Given the description of an element on the screen output the (x, y) to click on. 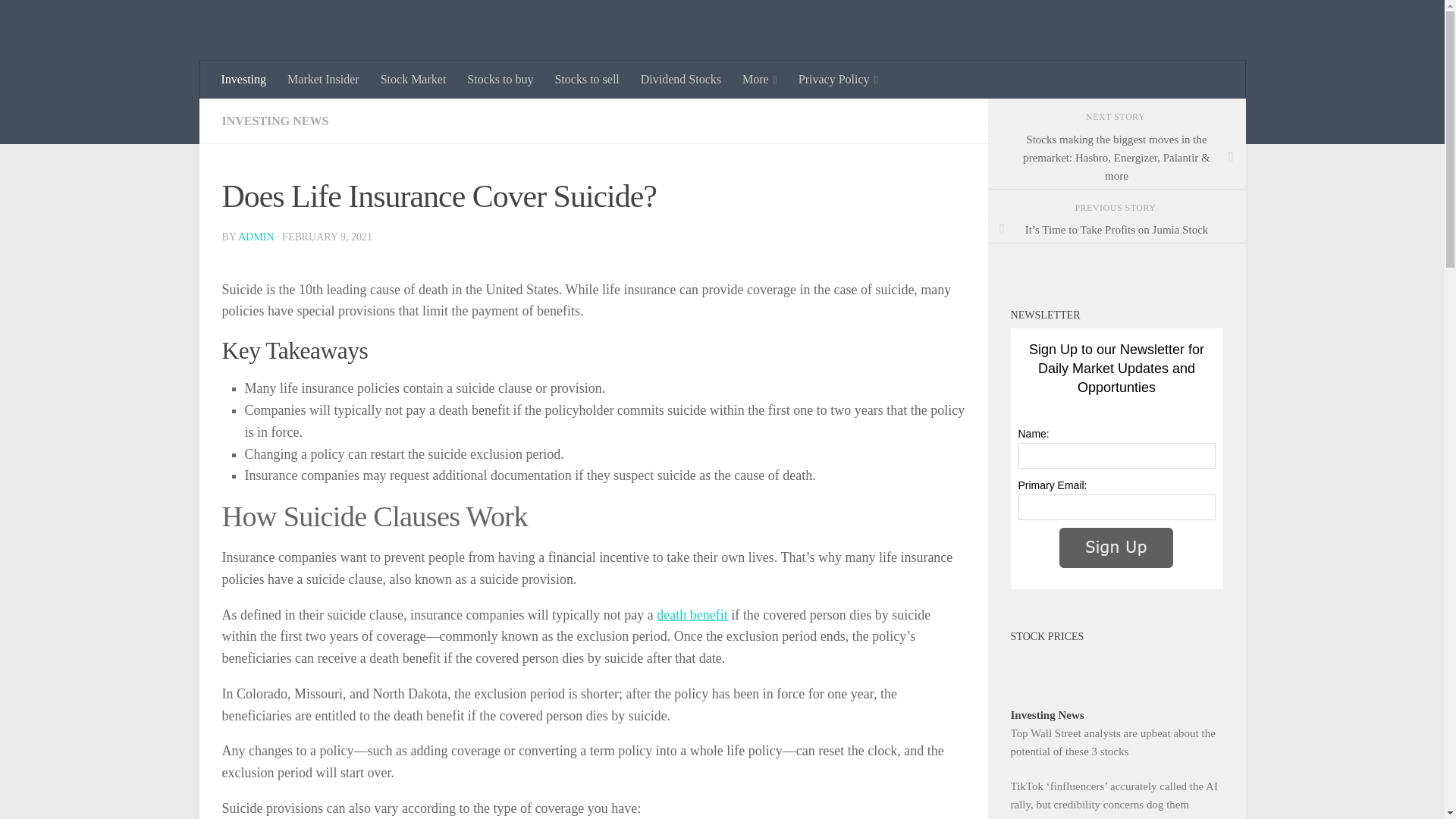
Posts by admin (255, 236)
INVESTING NEWS (275, 120)
Privacy Policy (837, 79)
Skip to content (59, 20)
Stock Market (413, 79)
death benefit (691, 613)
Dividend Stocks (681, 79)
Market Insider (322, 79)
Investing (244, 79)
ADMIN (255, 236)
